Given the description of an element on the screen output the (x, y) to click on. 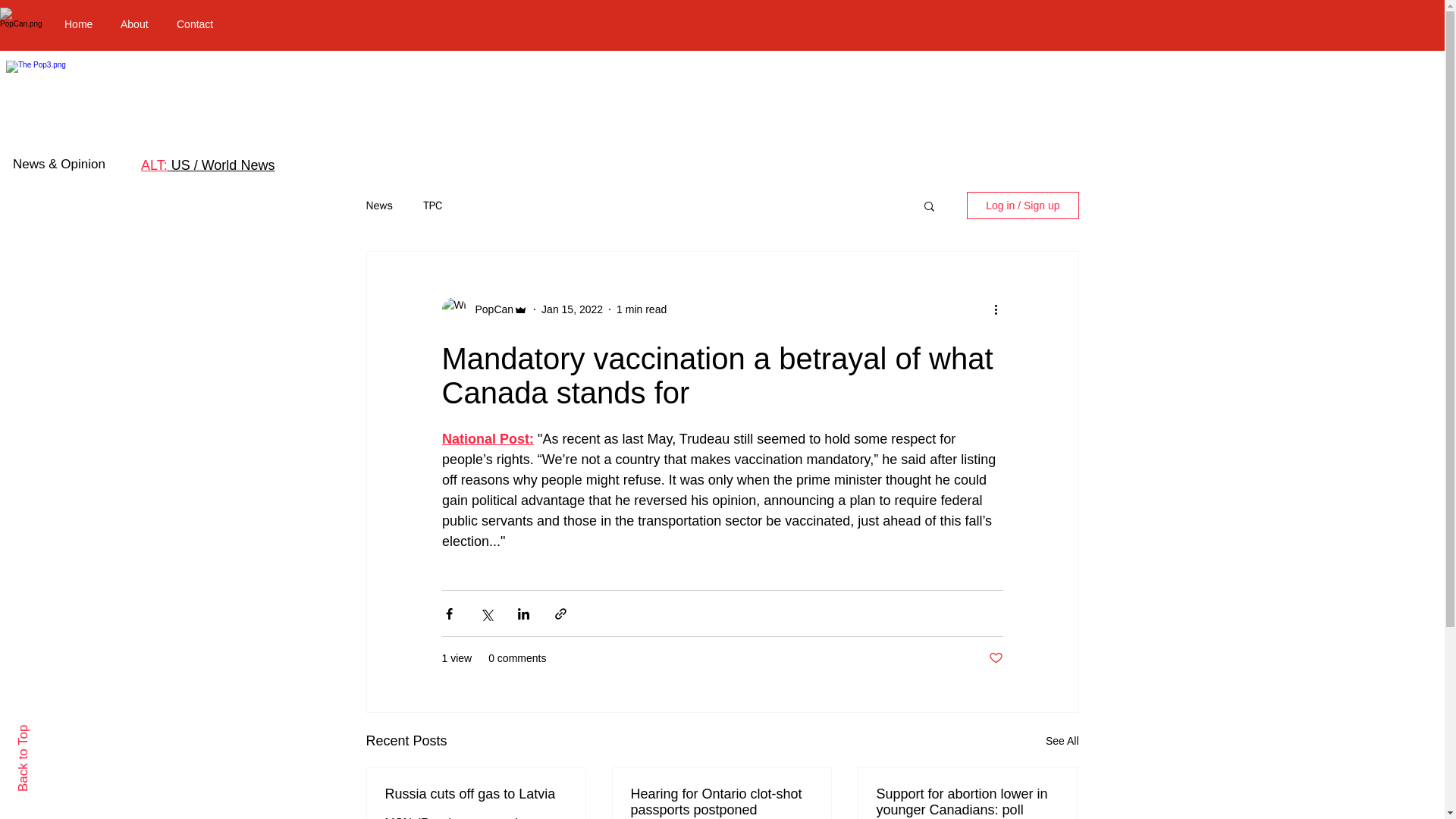
TPC (432, 205)
Post not marked as liked (995, 658)
1 min read (640, 309)
Contact (198, 24)
National Post: (486, 438)
Hearing for Ontario clot-shot passports postponed (721, 802)
PopCan (489, 309)
About (137, 24)
Back to Top (49, 730)
Support for abortion lower in younger Canadians: poll (967, 802)
